Given the description of an element on the screen output the (x, y) to click on. 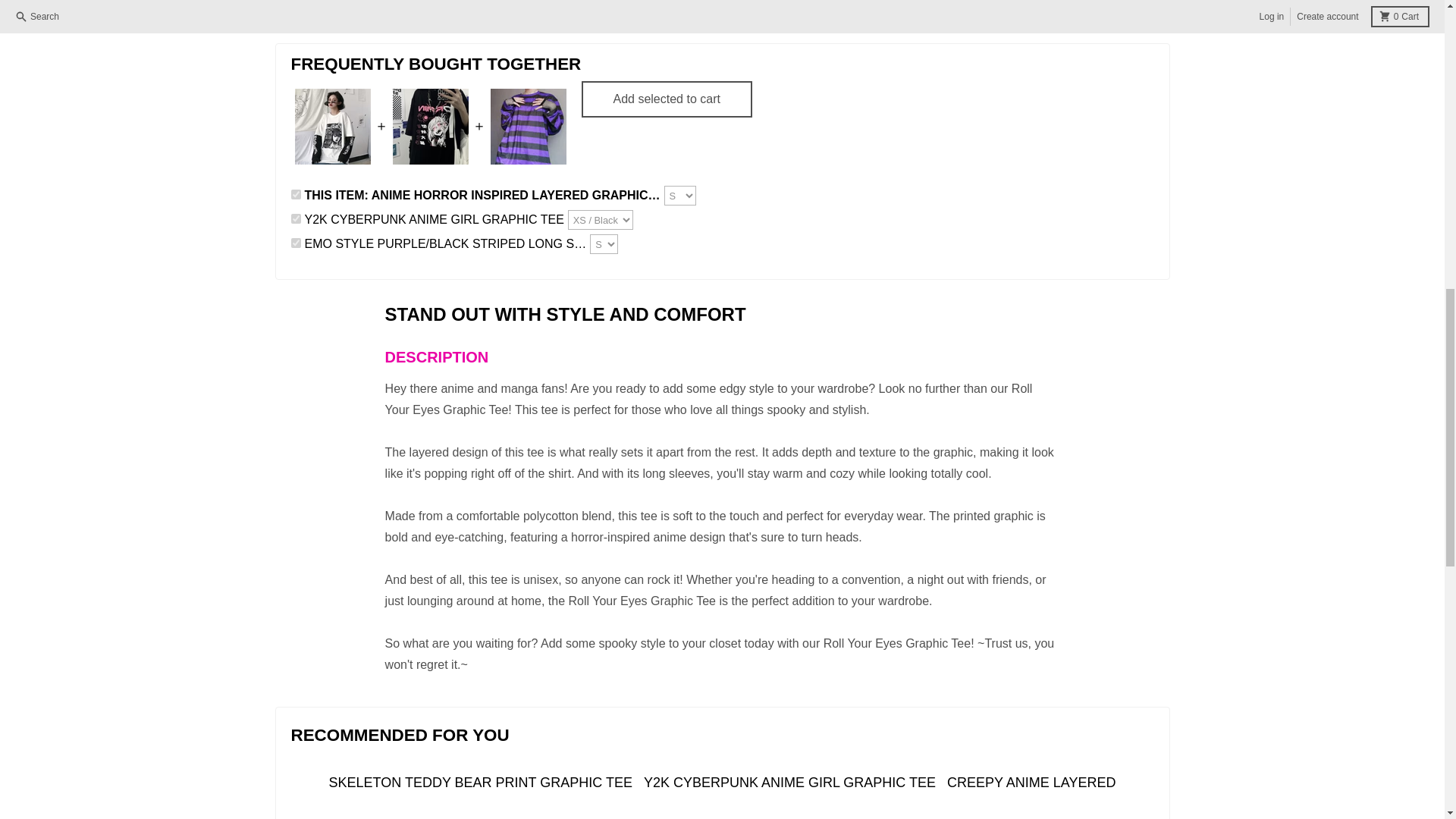
on (296, 218)
on (296, 243)
on (296, 194)
